Given the description of an element on the screen output the (x, y) to click on. 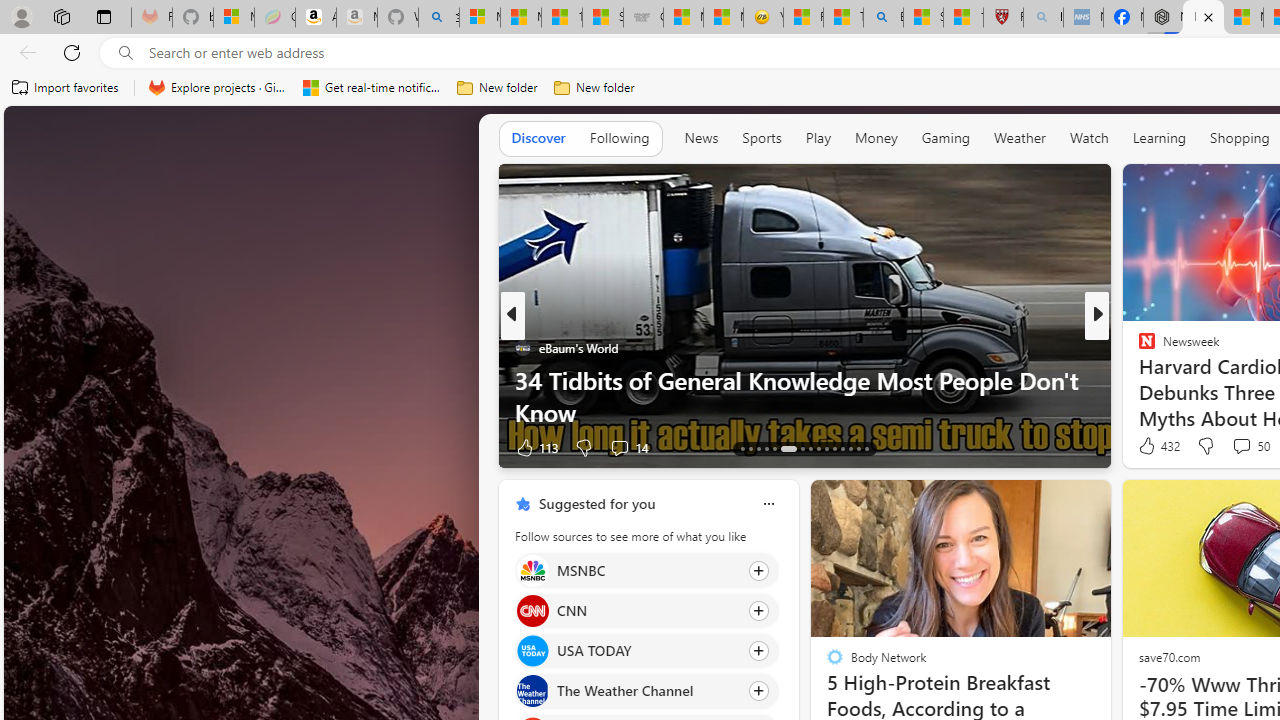
Money (875, 137)
View comments 50 Comment (1241, 445)
AutomationID: tab-71 (788, 448)
AutomationID: tab-76 (833, 448)
Sports (761, 137)
Watch (1089, 137)
Shopping (1240, 137)
26 Like (1149, 447)
12 Popular Science Lies that Must be Corrected (963, 17)
View comments 104 Comment (1234, 447)
Learning (1159, 137)
